Given the description of an element on the screen output the (x, y) to click on. 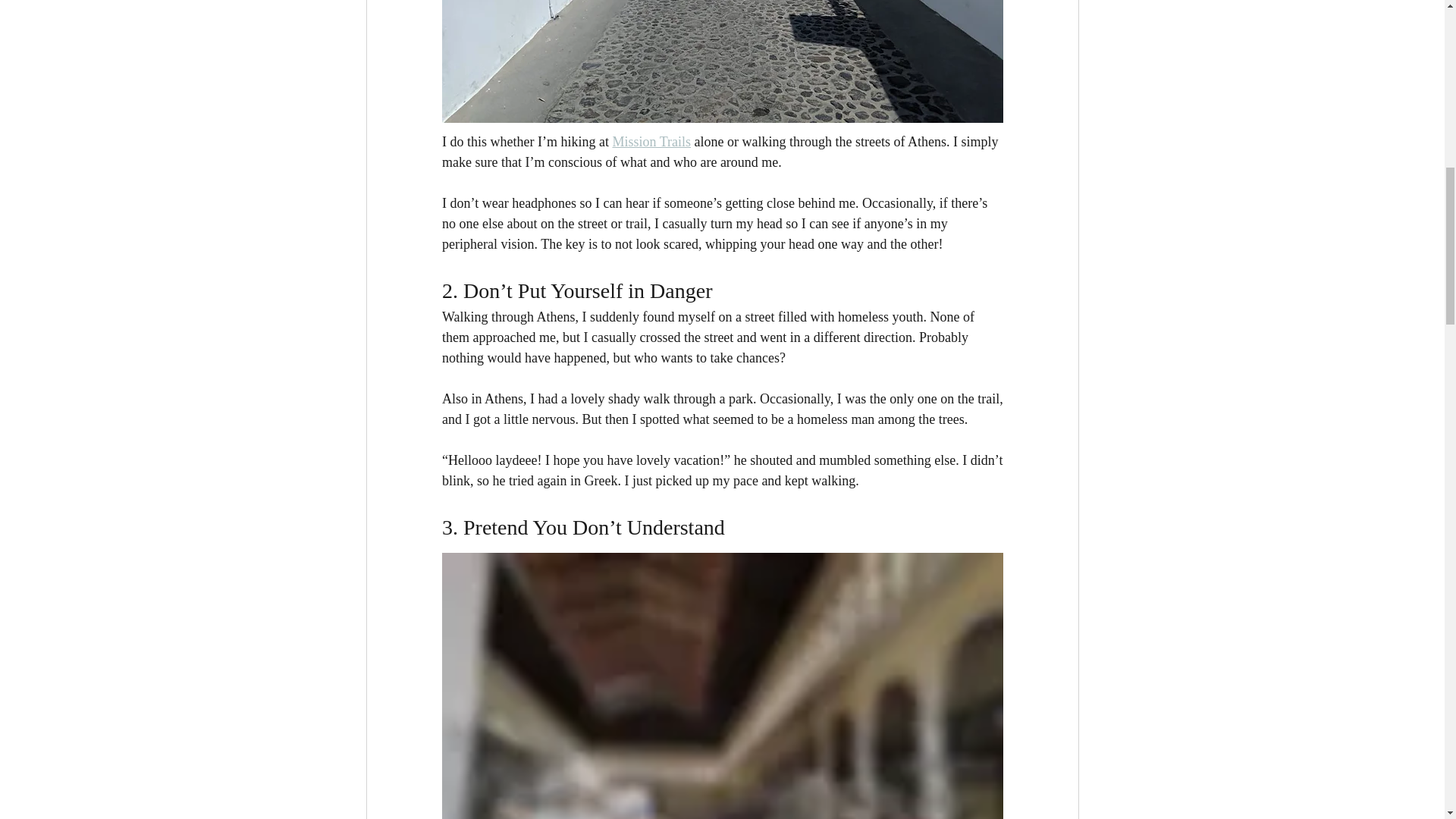
Mission Trails (650, 141)
